Given the description of an element on the screen output the (x, y) to click on. 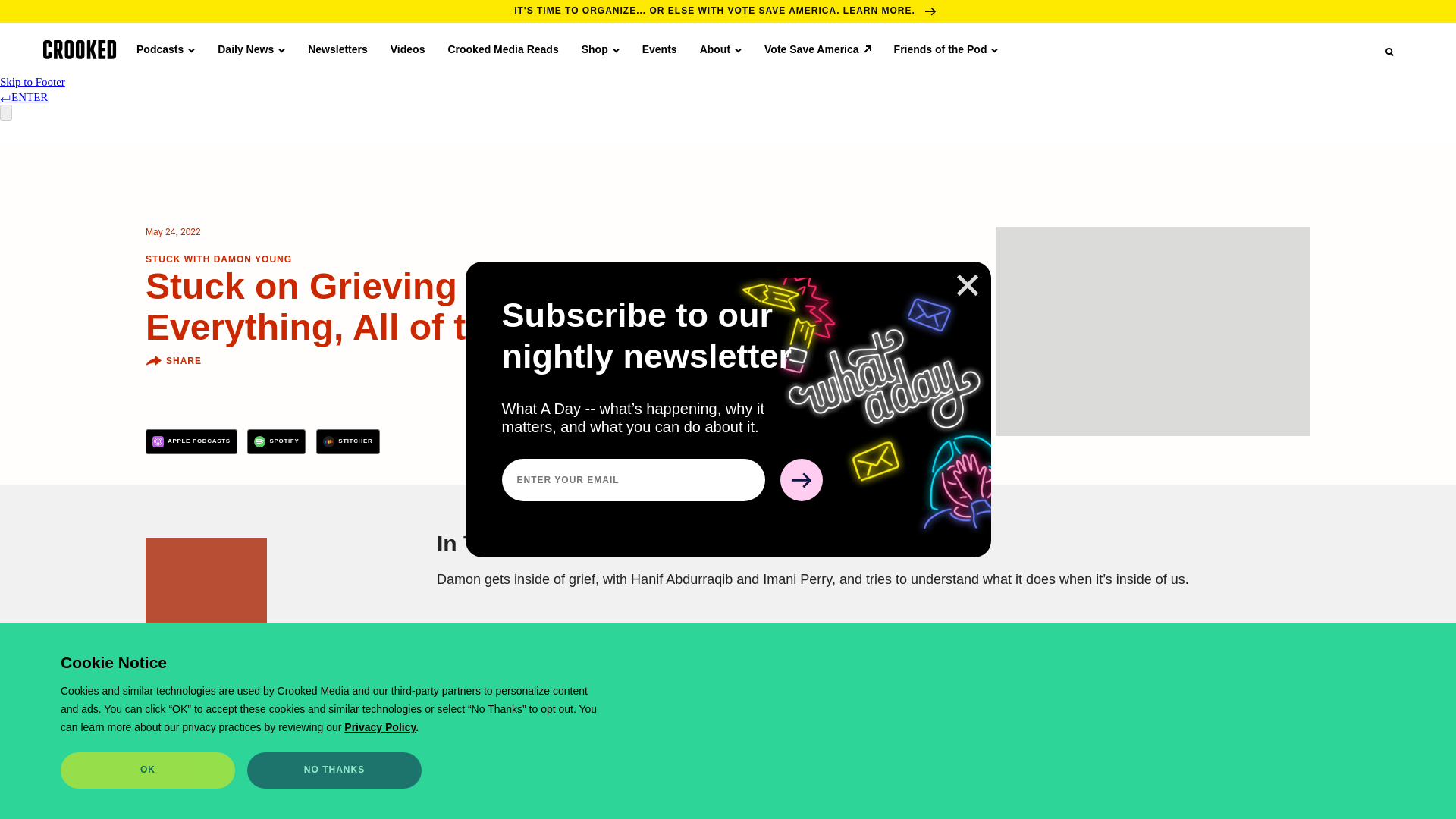
Friends of the Pod (945, 48)
Events (659, 48)
Podcasts (165, 48)
Shop (600, 48)
About (720, 48)
Crooked Media Reads (501, 48)
Newsletters (337, 48)
Videos (407, 48)
Daily News (250, 48)
Vote Save America (817, 48)
